Given the description of an element on the screen output the (x, y) to click on. 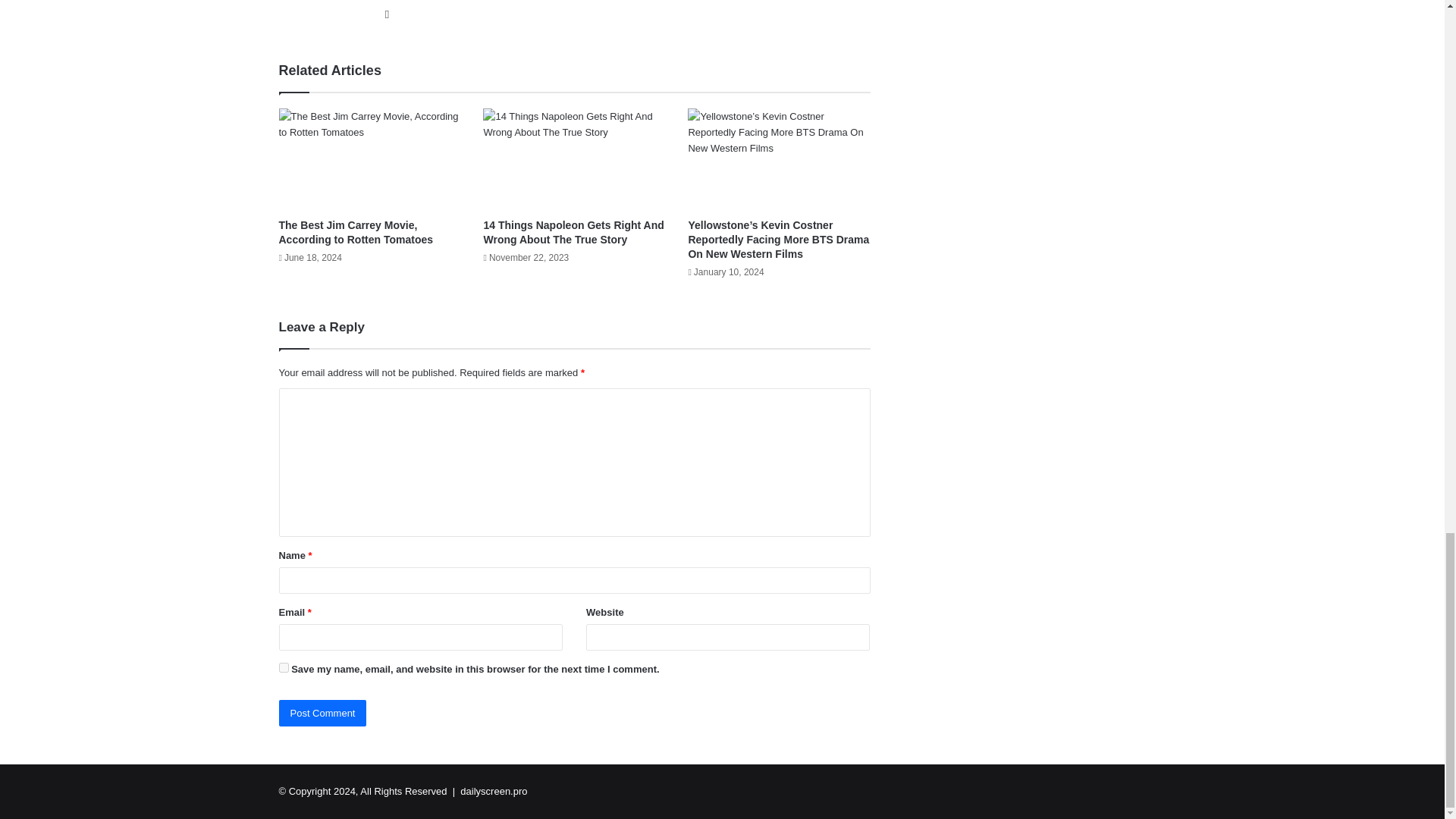
Post Comment (322, 713)
14 Things Napoleon Gets Right And Wrong About The True Story (573, 232)
yes (283, 667)
dailyscreen.pro (493, 790)
Website (386, 13)
14 Things Napoleon Gets Right And Wrong About The True Story (574, 159)
The Best Jim Carrey Movie, According to Rotten Tomatoes (356, 232)
Post Comment (322, 713)
The Best Jim Carrey Movie, According to Rotten Tomatoes (370, 159)
